Given the description of an element on the screen output the (x, y) to click on. 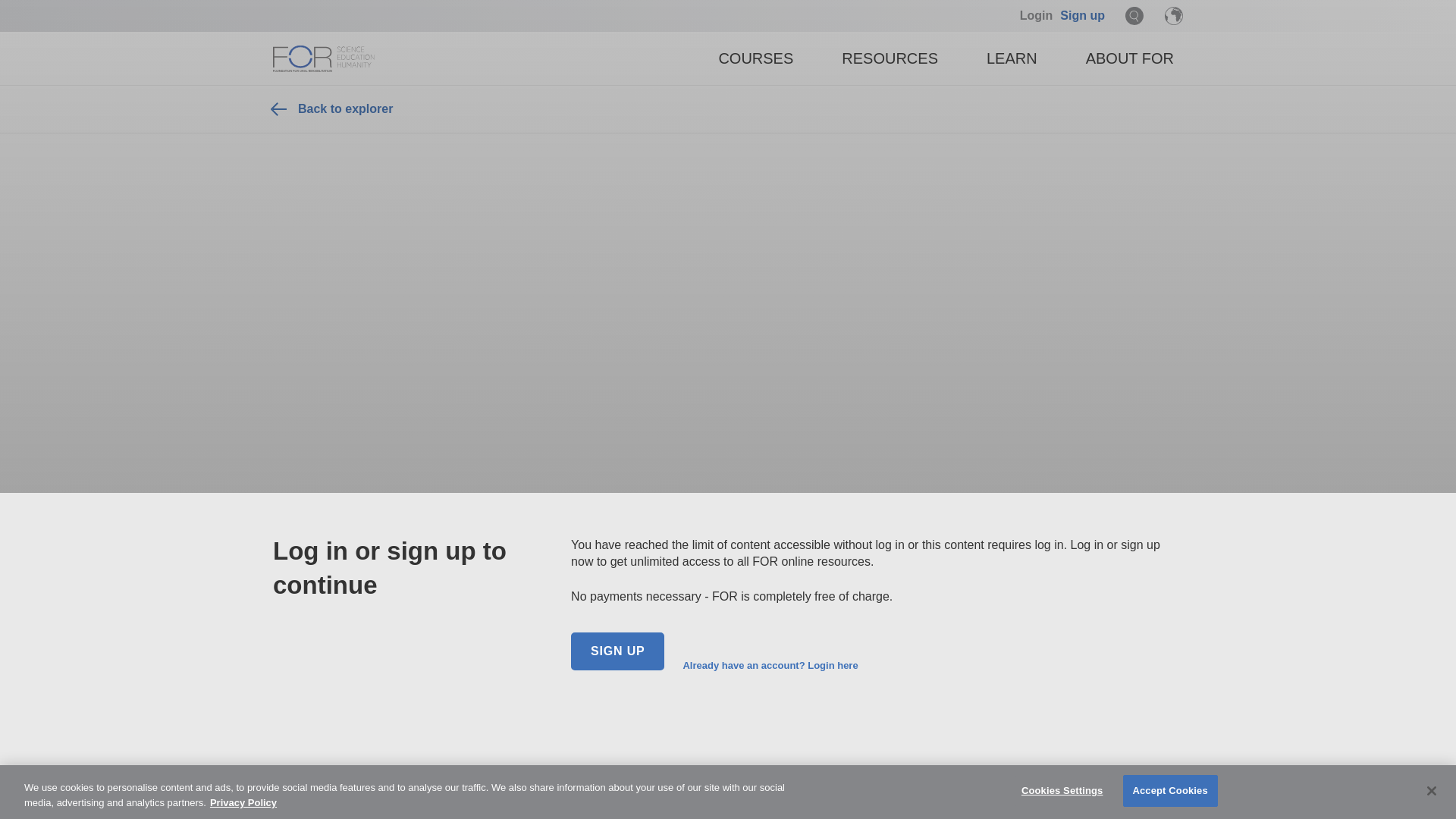
ICON-PLAY (583, 720)
icon-globe (1173, 15)
Sign up (1082, 15)
Login (1036, 15)
